Given the description of an element on the screen output the (x, y) to click on. 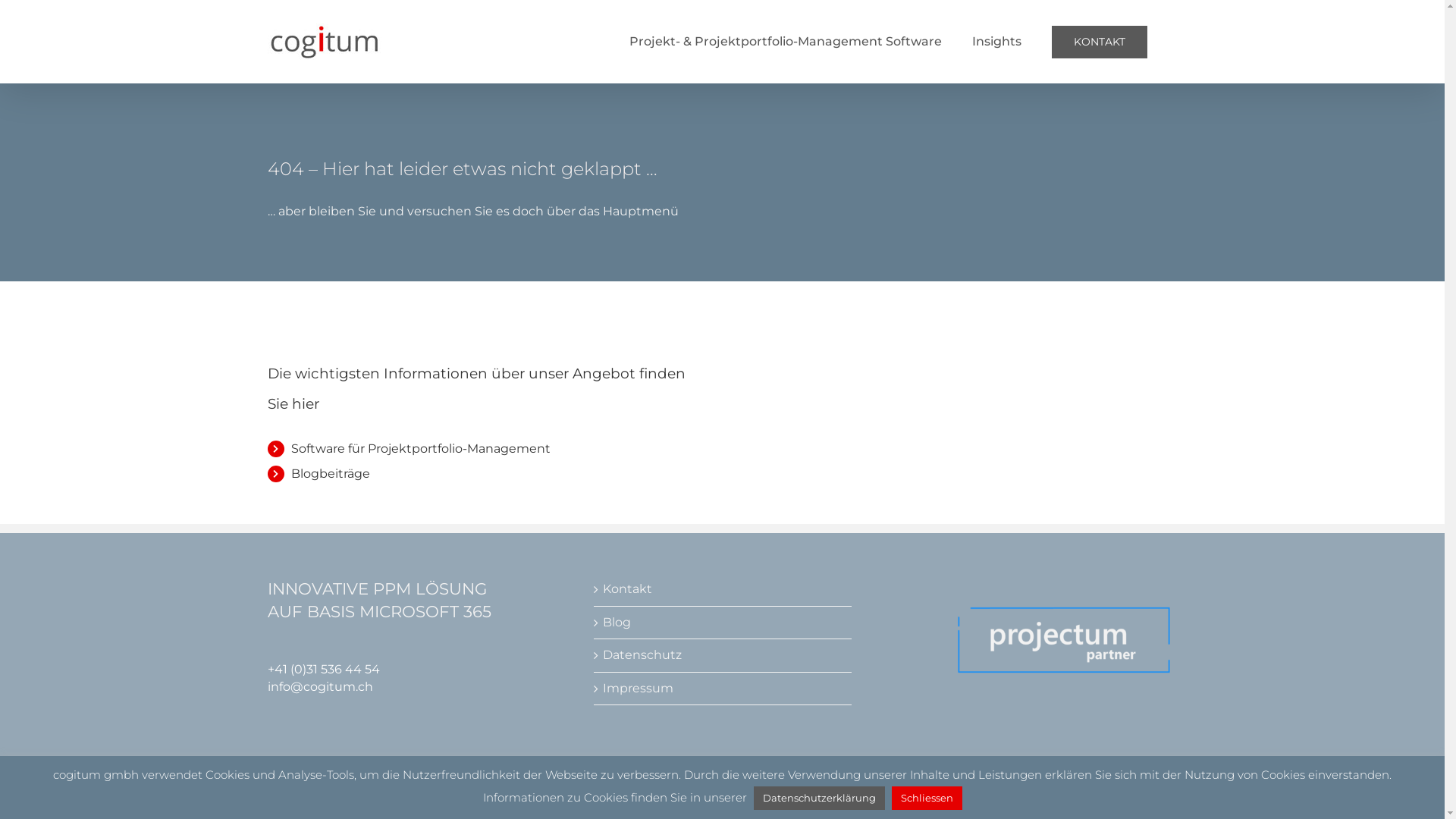
Datenschutz Element type: text (722, 654)
Projekt- & Projektportfolio-Management Software Element type: text (785, 41)
LinkedIn Element type: text (1143, 792)
KONTAKT Element type: text (1098, 41)
Blog Element type: text (722, 622)
Xing Element type: text (1170, 792)
Insights Element type: text (996, 41)
Impressum Element type: text (722, 688)
Kontakt Element type: text (722, 588)
Schliessen Element type: text (926, 797)
